Given the description of an element on the screen output the (x, y) to click on. 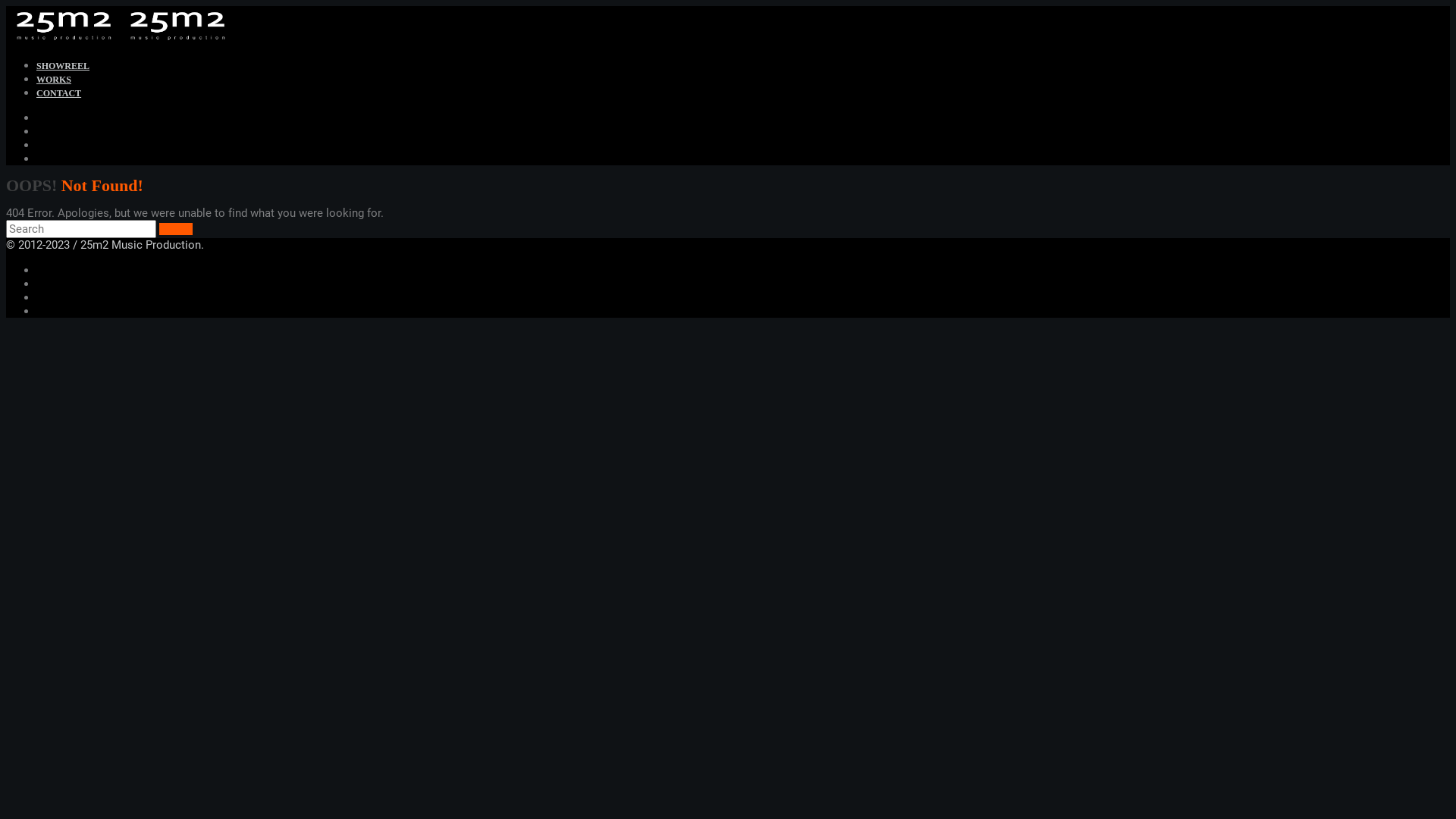
CONTACT Element type: text (58, 92)
SHOWREEL Element type: text (62, 65)
WORKS Element type: text (53, 79)
Search Element type: text (175, 228)
